Given the description of an element on the screen output the (x, y) to click on. 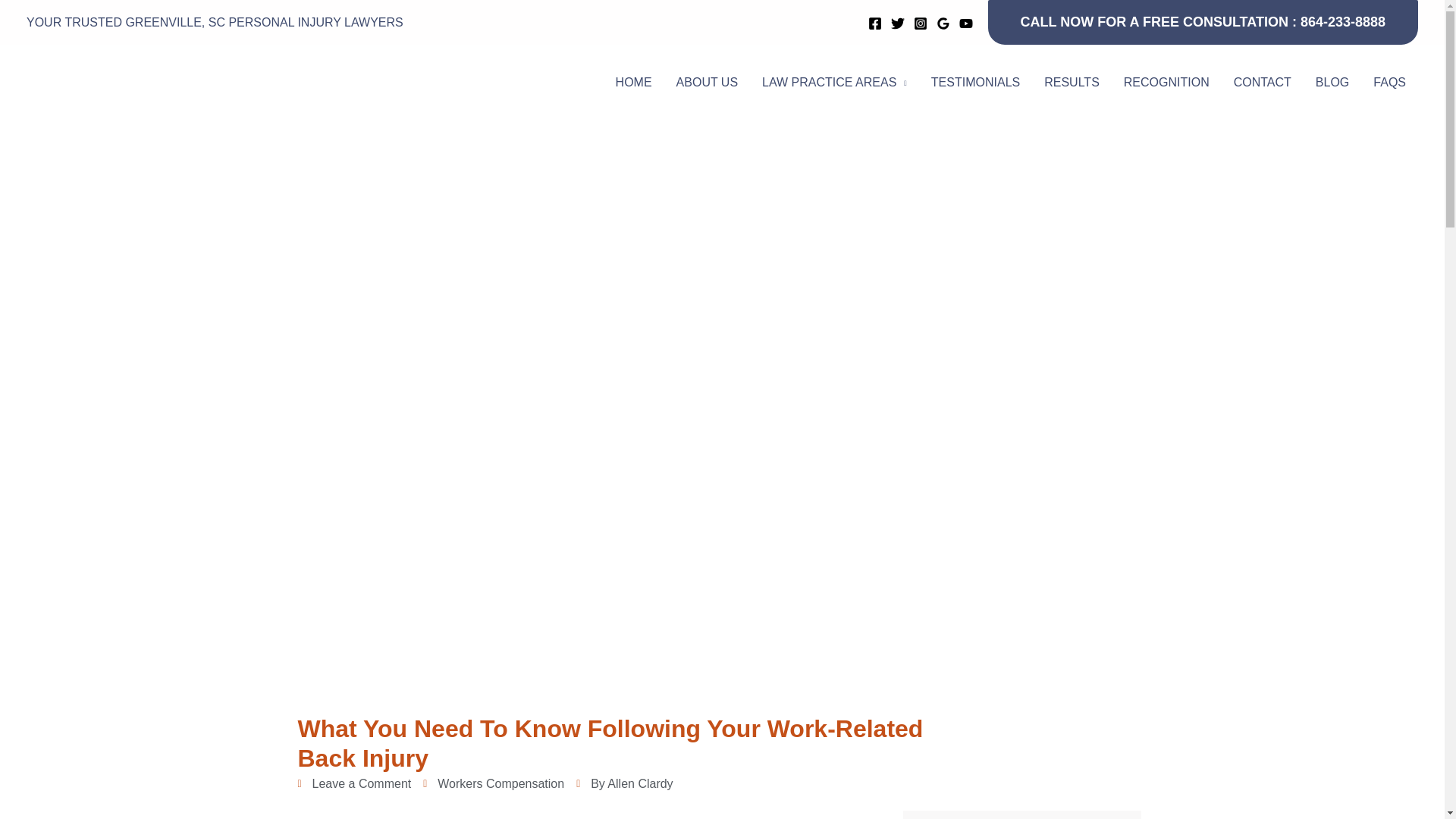
CALL NOW FOR A FREE CONSULTATION : 864-233-8888 (1203, 22)
ABOUT US (707, 82)
LAW PRACTICE AREAS (833, 82)
TESTIMONIALS (975, 82)
RESULTS (1072, 82)
CONTACT (1262, 82)
RECOGNITION (1166, 82)
